Given the description of an element on the screen output the (x, y) to click on. 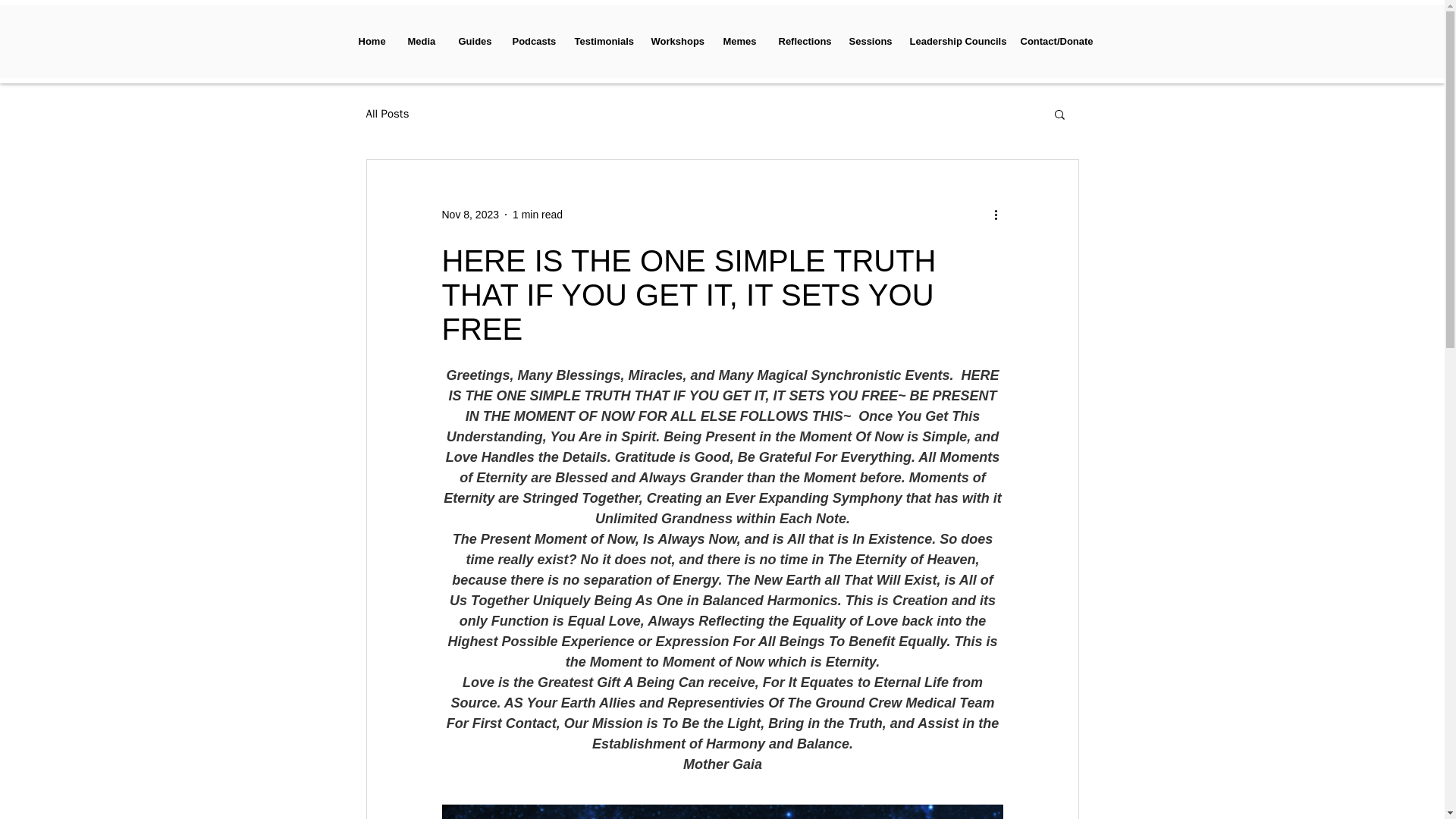
Memes (739, 41)
Testimonials (600, 41)
1 min read (537, 214)
Media (421, 41)
Sessions (867, 41)
Workshops (675, 41)
Leadership Councils (953, 41)
Nov 8, 2023 (470, 214)
Guides (473, 41)
Home (371, 41)
